Given the description of an element on the screen output the (x, y) to click on. 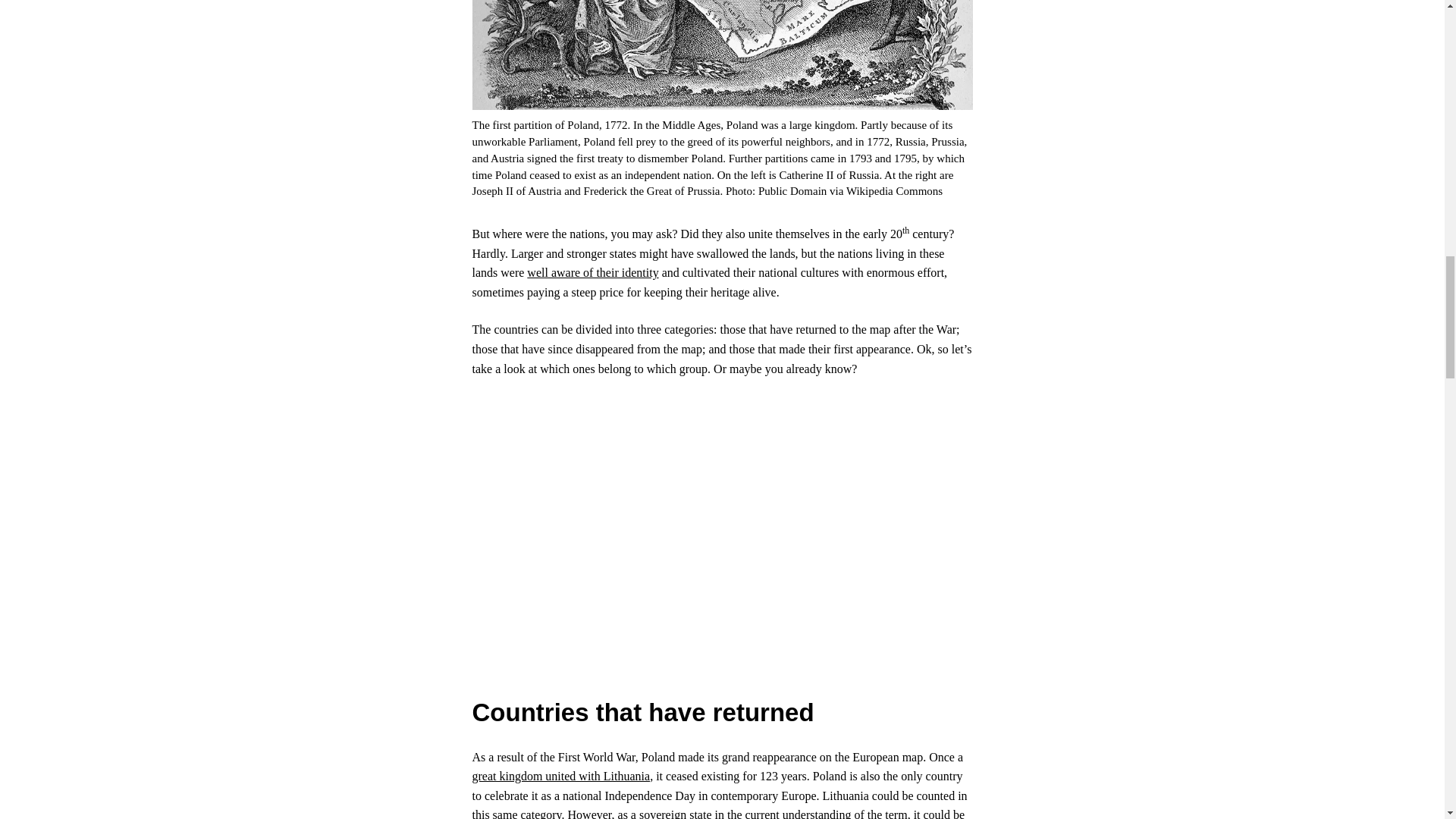
well aware of their identity (592, 272)
great kingdom united with Lithuania (560, 775)
